Given the description of an element on the screen output the (x, y) to click on. 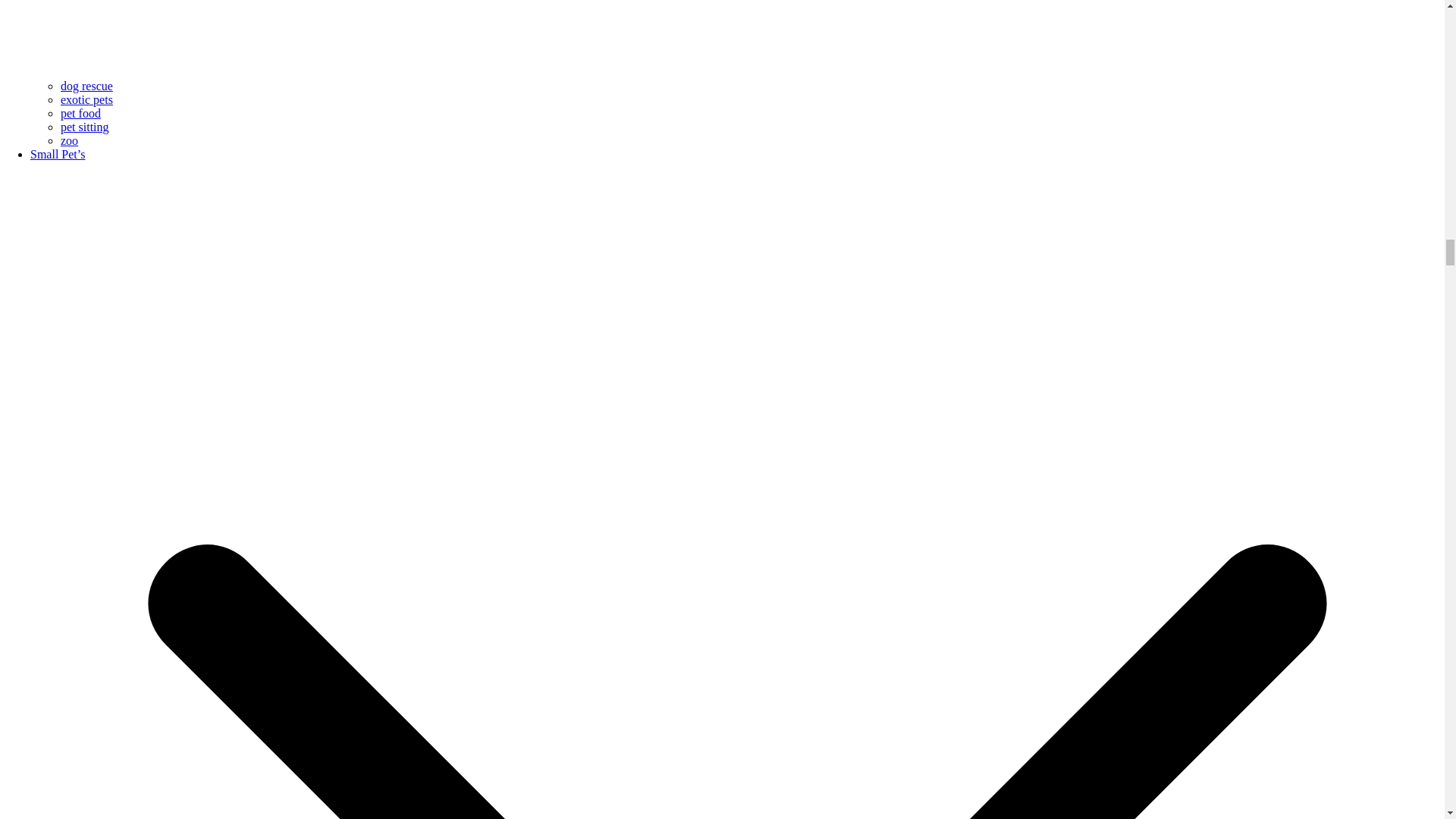
dog rescue (87, 85)
pet sitting (85, 126)
zoo (69, 140)
exotic pets (87, 99)
pet food (80, 113)
